Given the description of an element on the screen output the (x, y) to click on. 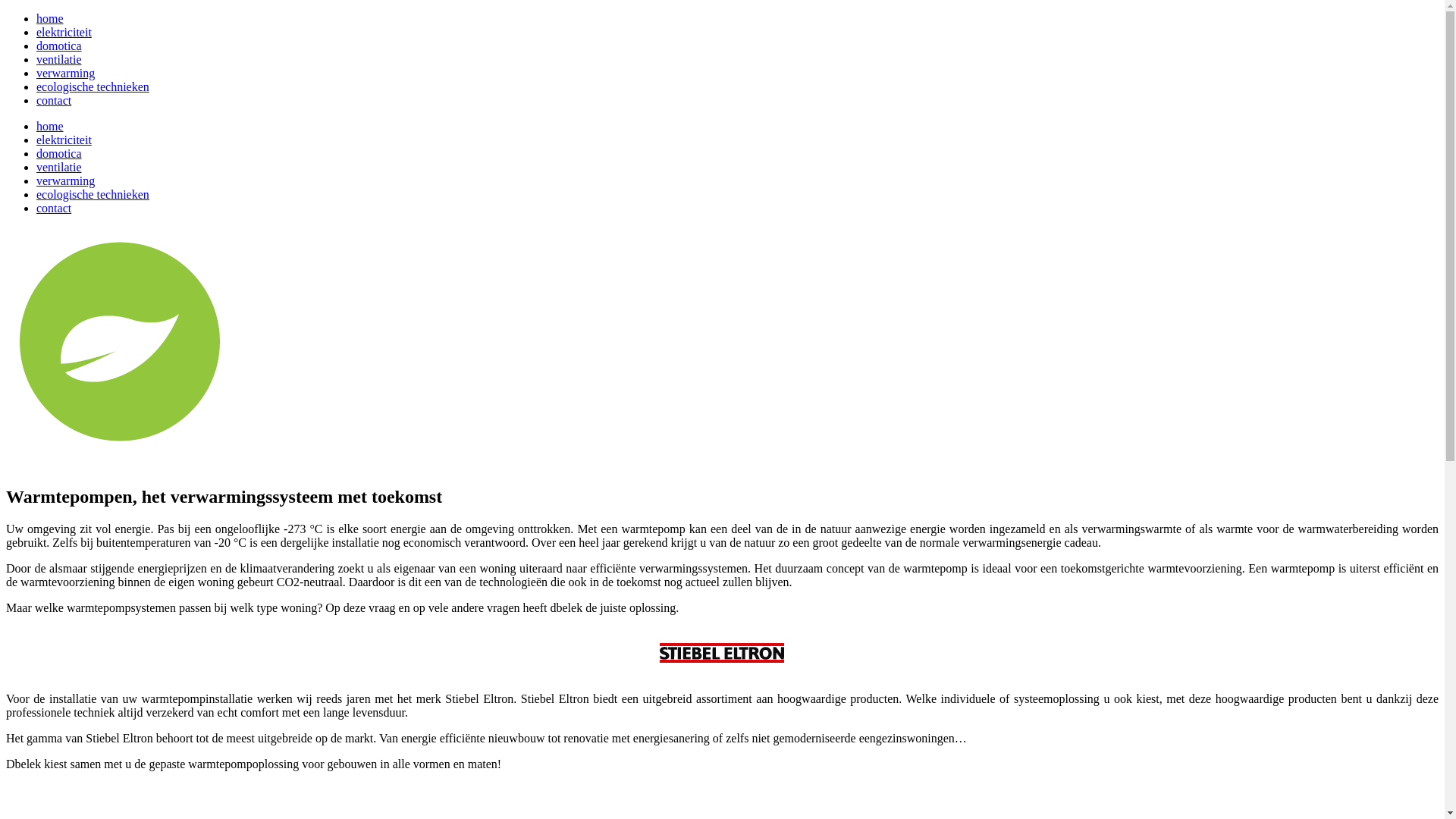
ecologische technieken Element type: text (92, 86)
elektriciteit Element type: text (63, 139)
home Element type: text (49, 18)
verwarming Element type: text (65, 72)
contact Element type: text (53, 100)
contact Element type: text (53, 207)
ecologische technieken Element type: text (92, 194)
elektriciteit Element type: text (63, 31)
domotica Element type: text (58, 45)
domotica Element type: text (58, 153)
verwarming Element type: text (65, 180)
ventilatie Element type: text (58, 166)
ventilatie Element type: text (58, 59)
home Element type: text (49, 125)
